Given the description of an element on the screen output the (x, y) to click on. 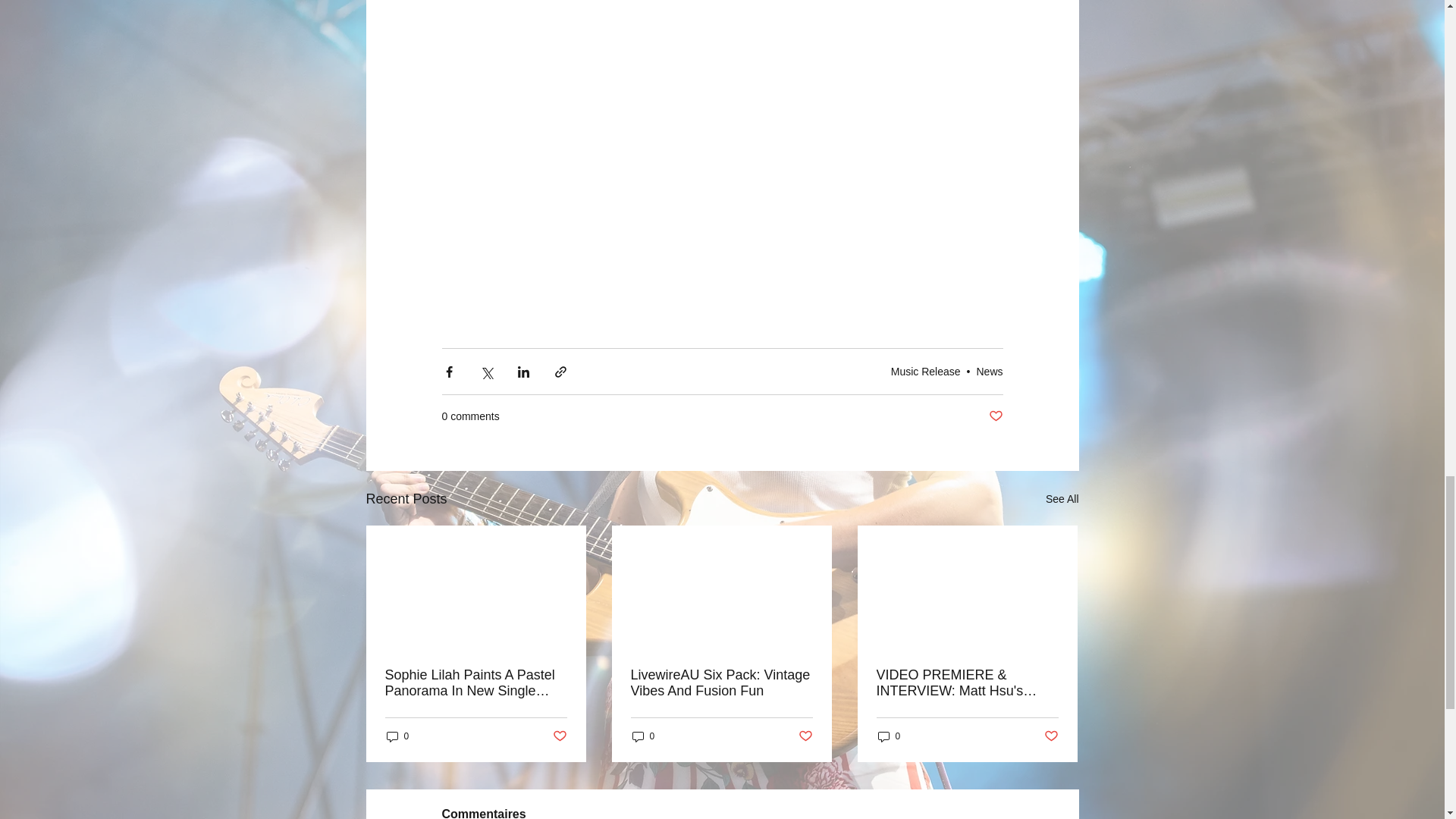
0 (397, 736)
LivewireAU Six Pack: Vintage Vibes And Fusion Fun (721, 683)
See All (1061, 499)
Post not marked as liked (558, 736)
News (989, 371)
0 (889, 736)
Post not marked as liked (995, 416)
0 (643, 736)
Music Release (925, 371)
ricos-video (722, 42)
Post not marked as liked (1050, 736)
Post not marked as liked (804, 736)
